Given the description of an element on the screen output the (x, y) to click on. 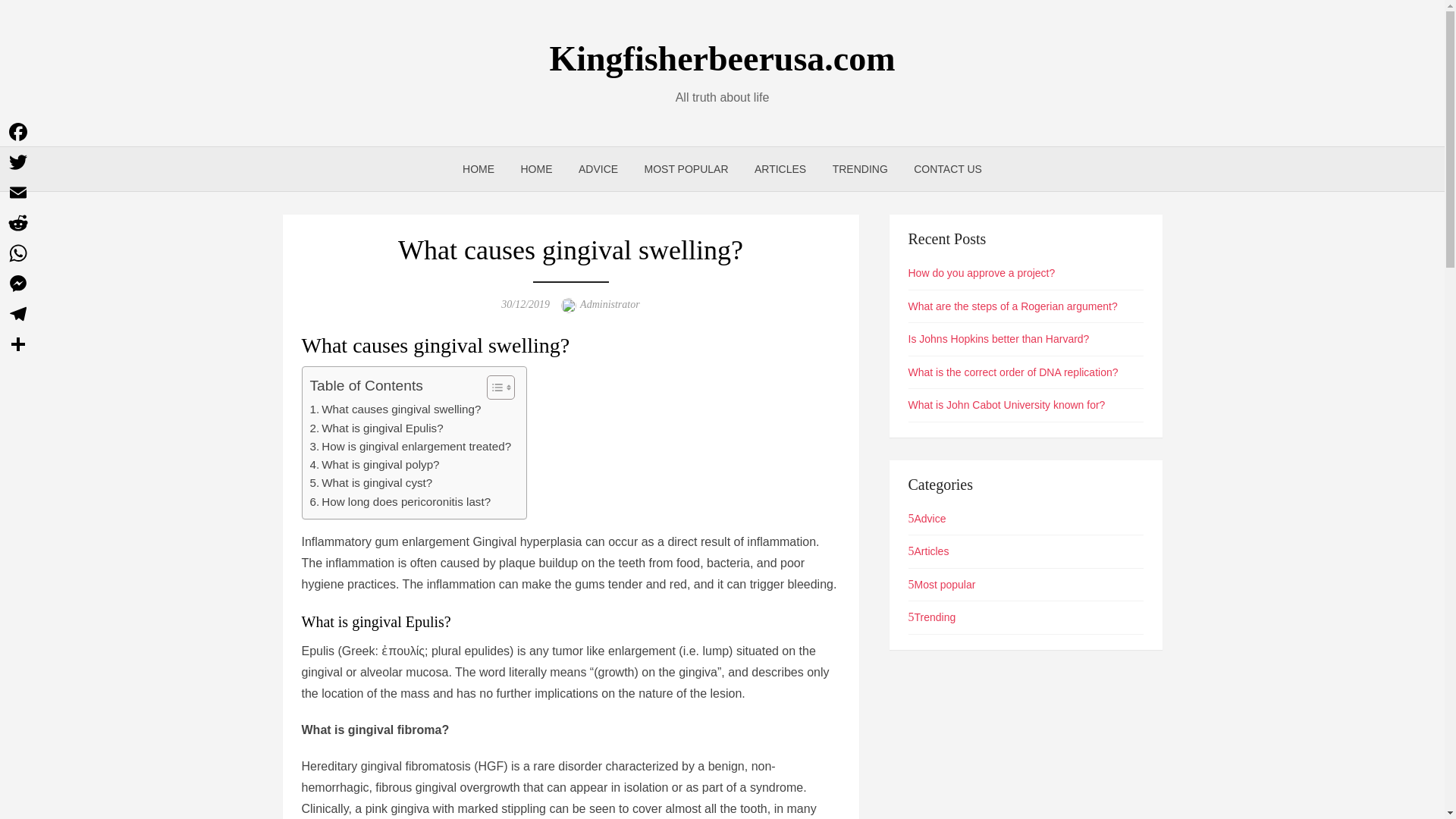
What are the steps of a Rogerian argument? (1013, 306)
Kingfisherbeerusa.com (721, 58)
Messenger (17, 283)
What is gingival polyp? (373, 464)
What is John Cabot University known for? (1006, 404)
Twitter (17, 162)
What is the correct order of DNA replication? (1013, 372)
CONTACT US (947, 168)
How long does pericoronitis last? (399, 502)
What is gingival cyst? (370, 483)
Reddit (17, 223)
What causes gingival swelling? (394, 409)
ADVICE (597, 168)
What is gingival Epulis? (375, 427)
Articles (928, 551)
